Given the description of an element on the screen output the (x, y) to click on. 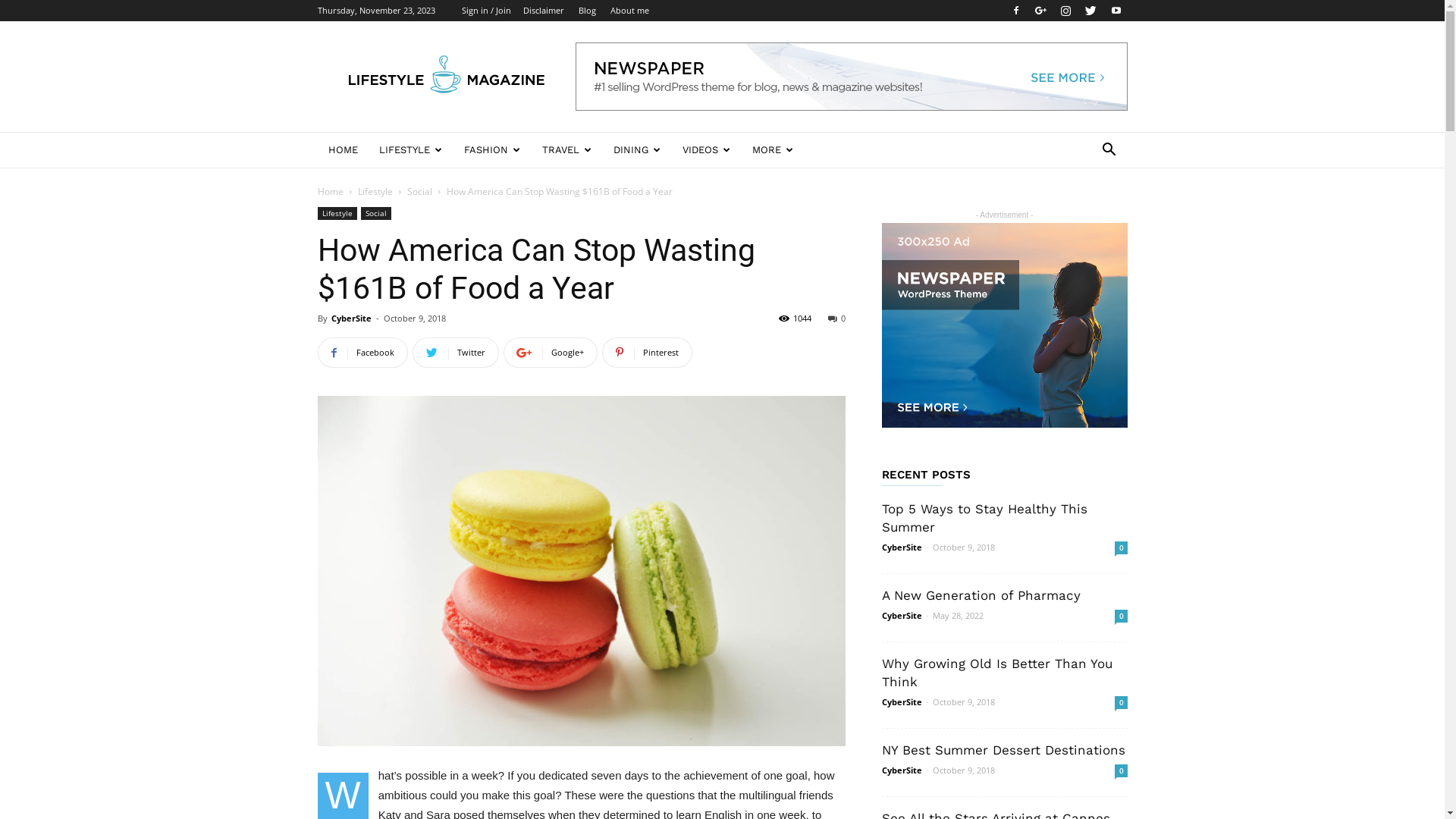
Pinterest Element type: text (647, 352)
MORE Element type: text (772, 149)
Search Element type: text (1085, 210)
Facebook Element type: text (361, 352)
Twitter Element type: hover (1090, 10)
FASHION Element type: text (492, 149)
0 Element type: text (1120, 615)
CyberSite Element type: text (901, 769)
Lifestyle Element type: text (336, 213)
VIDEOS Element type: text (706, 149)
Twitter Element type: text (455, 352)
A New Generation of Pharmacy Element type: text (980, 594)
CyberSite Element type: text (901, 546)
0 Element type: text (1120, 547)
DINING Element type: text (636, 149)
CyberSite Element type: text (901, 615)
Youtube Element type: hover (1115, 10)
Instagram Element type: hover (1065, 10)
Sign in / Join Element type: text (485, 9)
Home Element type: text (329, 191)
CyberSite Element type: text (350, 317)
Social Element type: text (418, 191)
Lifestyle Element type: text (374, 191)
Google+ Element type: text (550, 352)
NY Best Summer Dessert Destinations Element type: text (1002, 749)
0 Element type: text (836, 317)
9 Element type: hover (580, 570)
Google+ Element type: hover (1040, 10)
0 Element type: text (1120, 770)
0 Element type: text (1120, 702)
Why Growing Old Is Better Than You Think Element type: text (996, 672)
LIFESTYLE Element type: text (410, 149)
Top 5 Ways to Stay Healthy This Summer Element type: text (983, 517)
Blog Element type: text (586, 9)
CyberSite Element type: text (901, 701)
TRAVEL Element type: text (566, 149)
About me Element type: text (628, 9)
Facebook Element type: hover (1015, 10)
Social Element type: text (375, 213)
Disclaimer Element type: text (543, 9)
HOME Element type: text (341, 149)
